Given the description of an element on the screen output the (x, y) to click on. 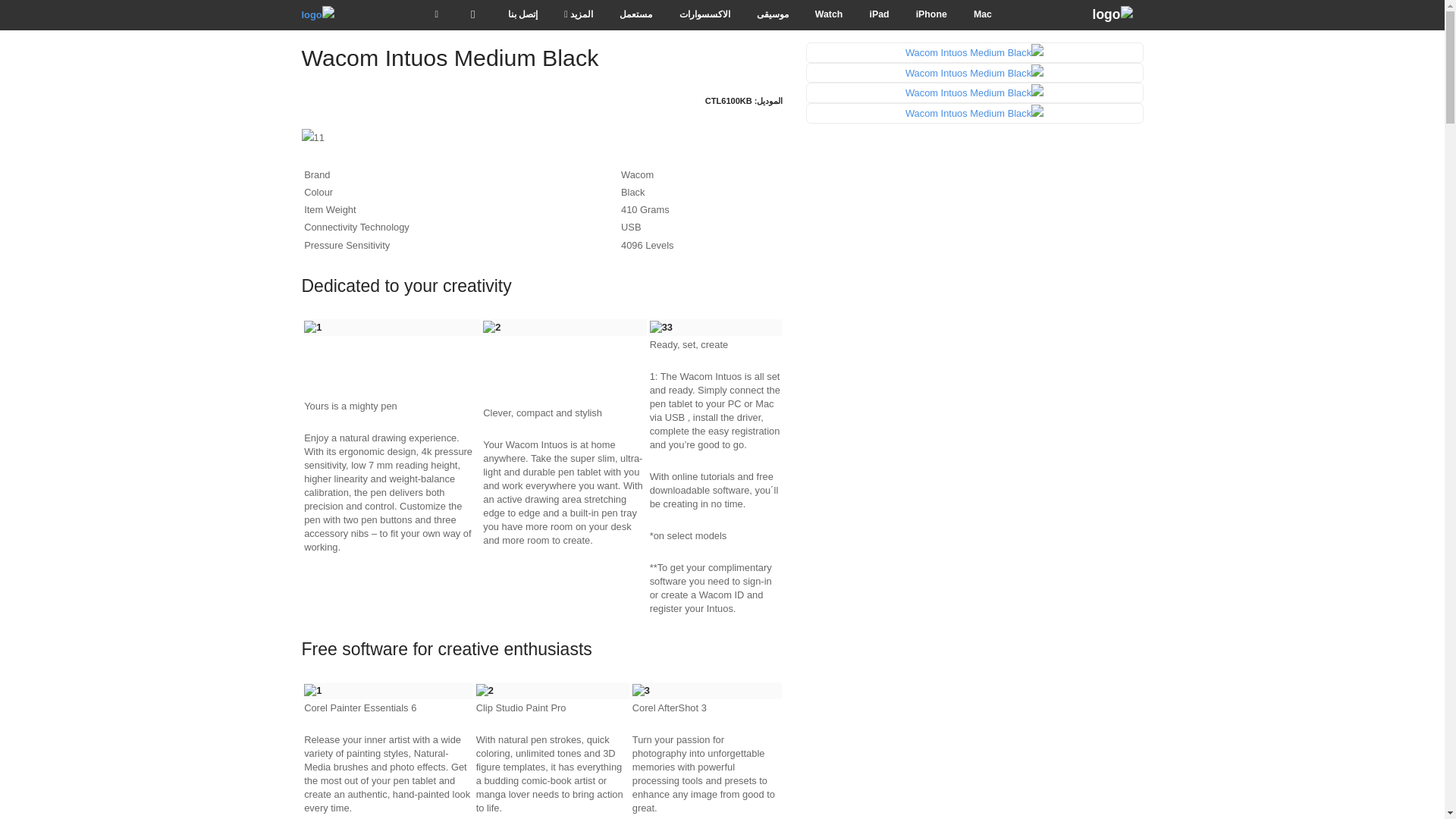
iPad (879, 14)
Watch (828, 14)
iPhone (931, 14)
Mac (982, 14)
